Given the description of an element on the screen output the (x, y) to click on. 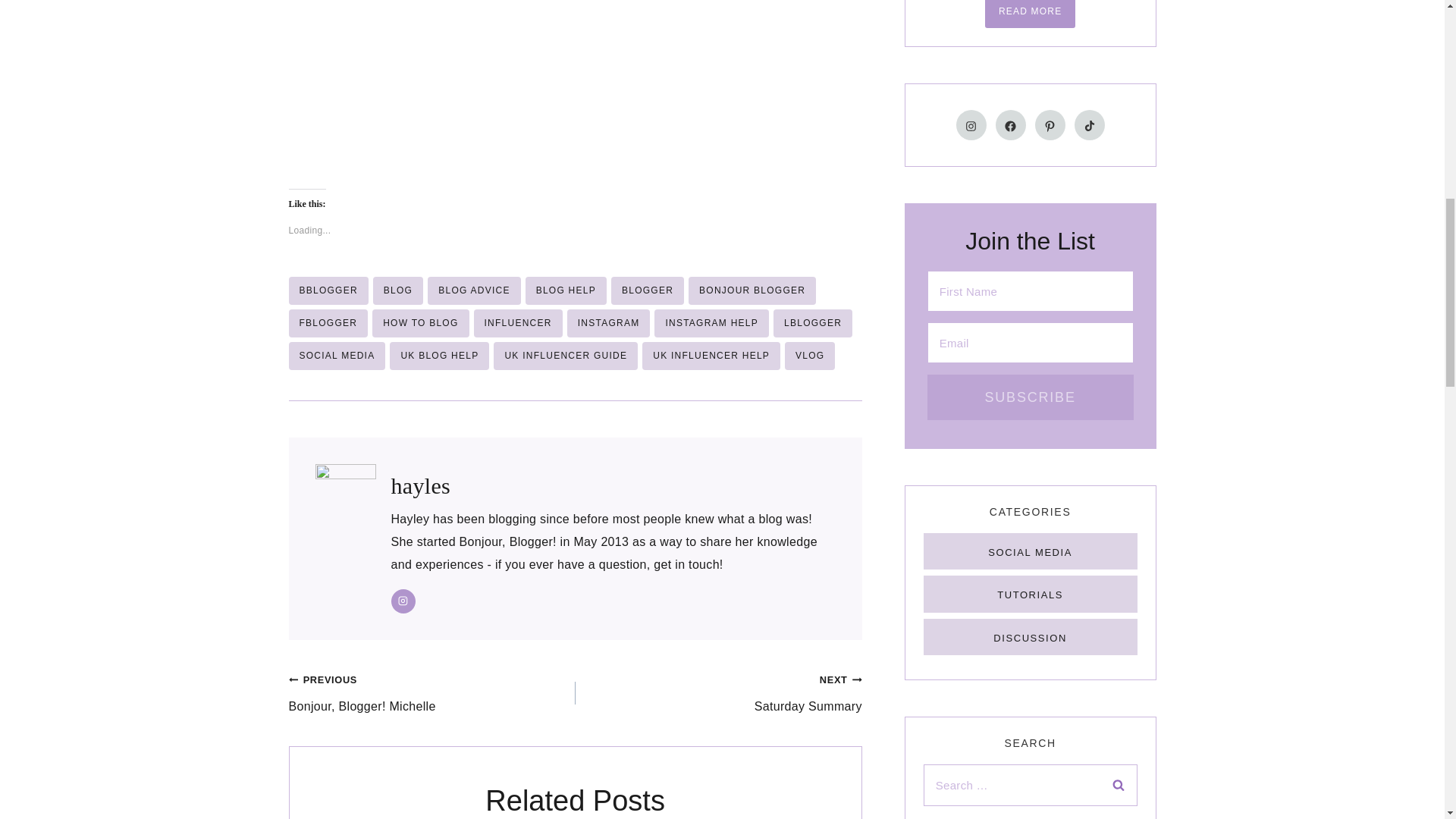
Search (1118, 784)
INSTAGRAM HELP (710, 323)
FBLOGGER (328, 323)
how to blog (420, 323)
blogger (647, 290)
UK INFLUENCER HELP (711, 356)
social media (336, 356)
bonjour blogger (751, 290)
BONJOUR BLOGGER (751, 290)
BLOGGER (647, 290)
